Given the description of an element on the screen output the (x, y) to click on. 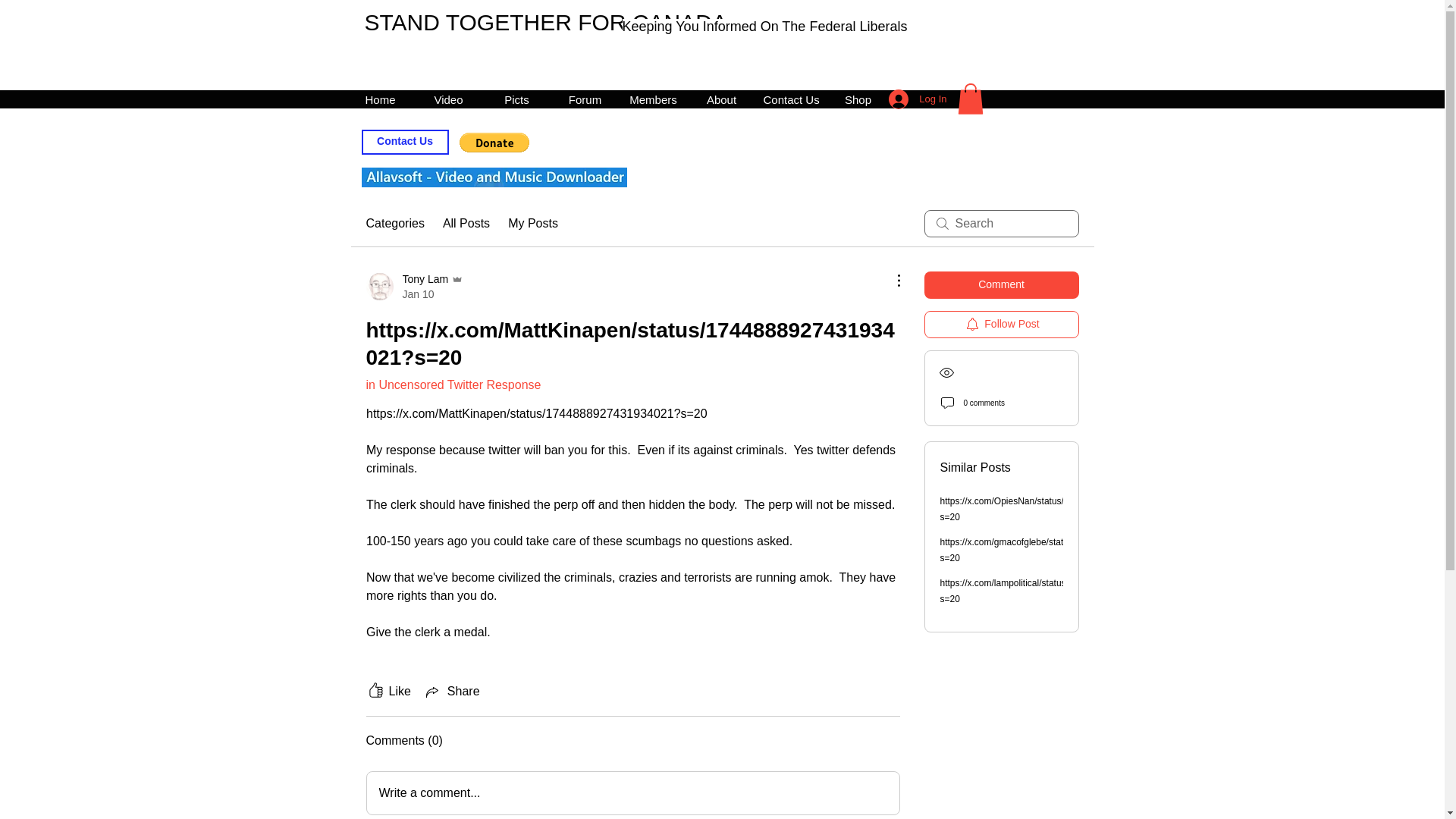
Forum (584, 99)
Share (451, 691)
Follow Post (1000, 324)
Log In (916, 99)
Contact Us (789, 99)
Like (387, 691)
Shop (857, 99)
Home (379, 99)
My Posts (414, 286)
